Given the description of an element on the screen output the (x, y) to click on. 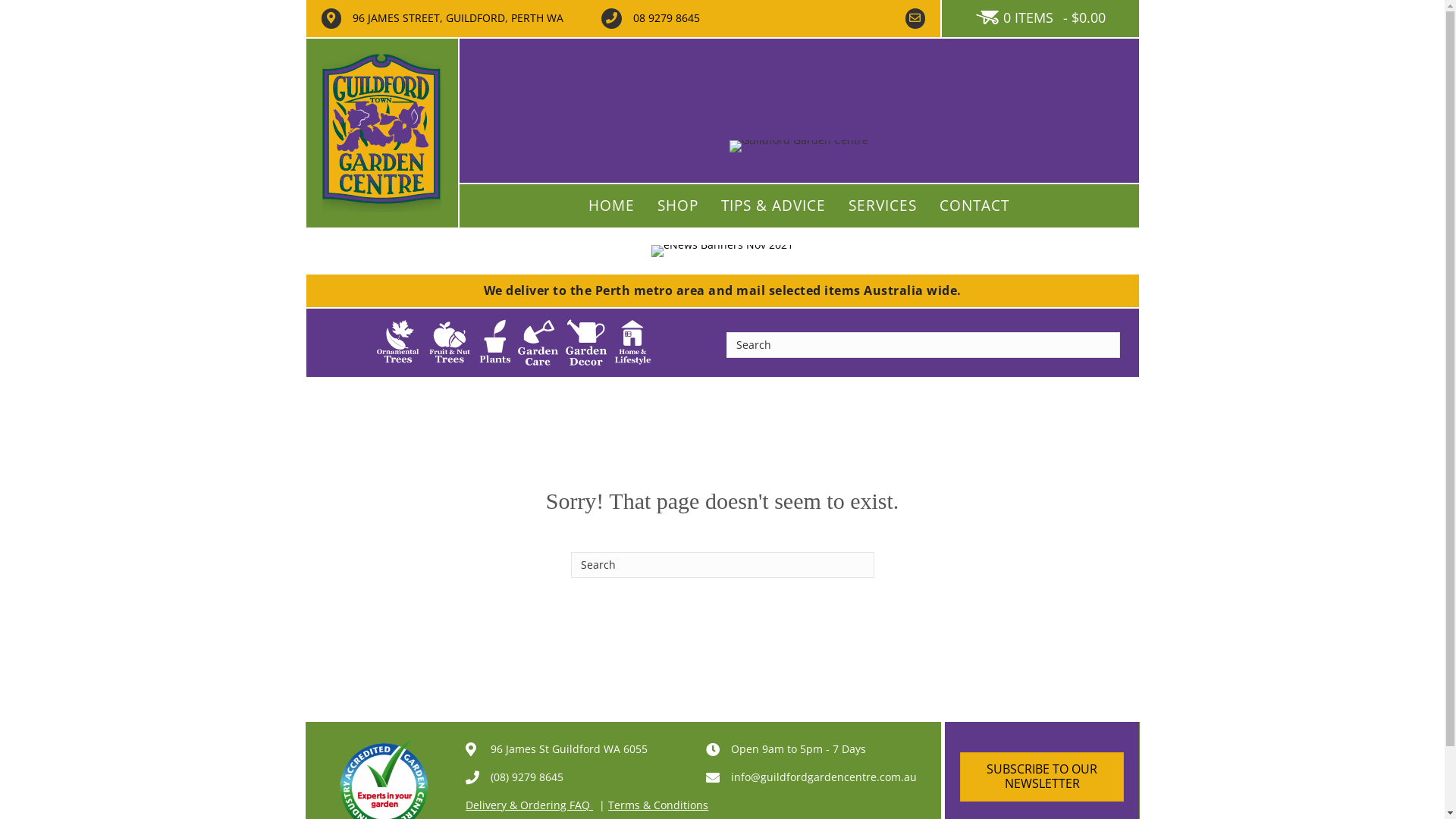
Type and press Enter to search. Element type: hover (923, 344)
SUBSCRIBE TO OUR NEWSLETTER Element type: text (1041, 776)
Type and press Enter to search. Element type: hover (721, 564)
96 JAMES STREET, GUILDFORD, PERTH WA Element type: text (457, 17)
gtgc-logo Element type: hover (381, 132)
(08) 9279 8645 Element type: text (526, 776)
HOME Element type: text (611, 206)
Delivery & Ordering FAQ Element type: text (529, 804)
info@guildfordgardencentre.com.au Element type: text (823, 776)
SERVICES Element type: text (882, 206)
TIPS & ADVICE Element type: text (773, 206)
0 ITEMS$0.00 Element type: text (1040, 18)
Site Header TItle Graphic Element type: hover (798, 146)
08 9279 8645 Element type: text (666, 17)
eNews Banners Nov 2021 Element type: hover (722, 250)
Terms & Conditions Element type: text (658, 804)
SHOP Element type: text (677, 206)
 96 James St Guildford WA 6055 Element type: text (567, 748)
CONTACT Element type: text (974, 206)
